Given the description of an element on the screen output the (x, y) to click on. 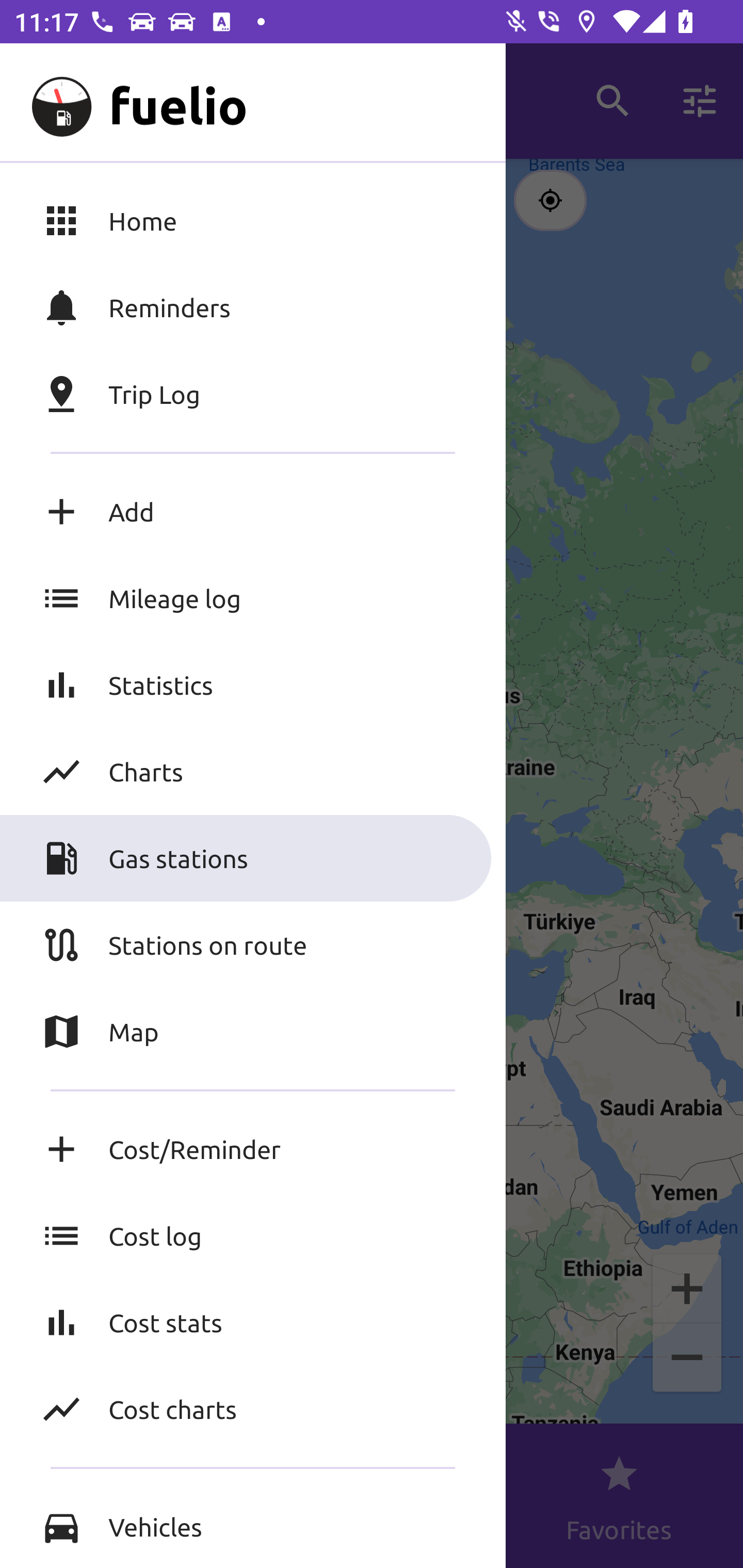
Fuelio (50, 101)
Home (252, 220)
Reminders (252, 307)
Trip Log (252, 394)
Add (252, 511)
Mileage log (252, 598)
Statistics (252, 684)
Charts (252, 771)
Gas stations (252, 858)
Stations on route (252, 944)
Map (252, 1031)
Cost/Reminder (252, 1149)
Cost log (252, 1236)
Cost stats (252, 1322)
Cost charts (252, 1408)
Vehicles (252, 1525)
